Given the description of an element on the screen output the (x, y) to click on. 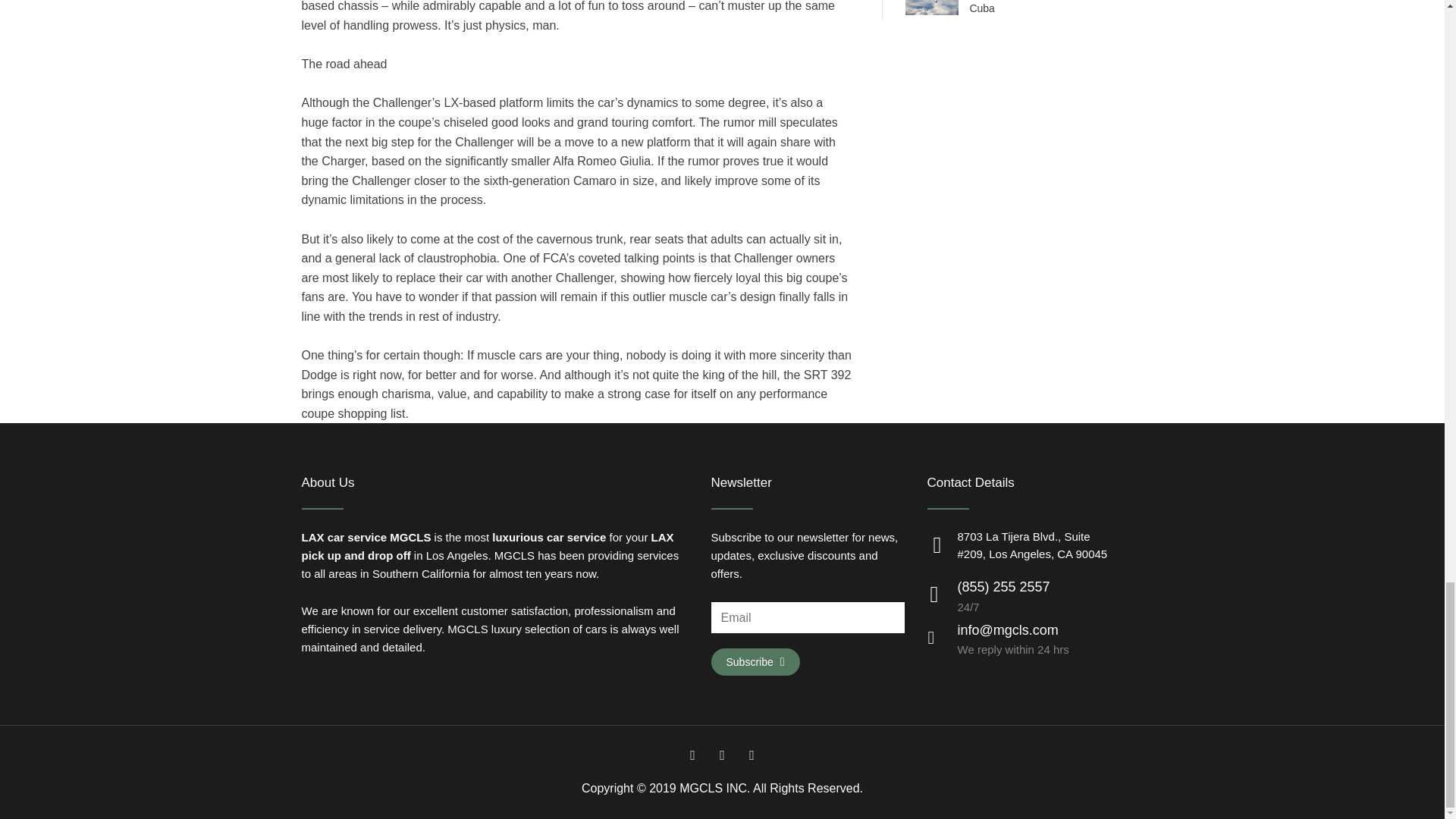
Mike G California Limousine Service (466, 628)
Los Angeles International Airport (662, 536)
Mike G California Limousine Service (410, 536)
Mike G California Limousine Service (514, 554)
Los Angeles International Airport (312, 536)
